Given the description of an element on the screen output the (x, y) to click on. 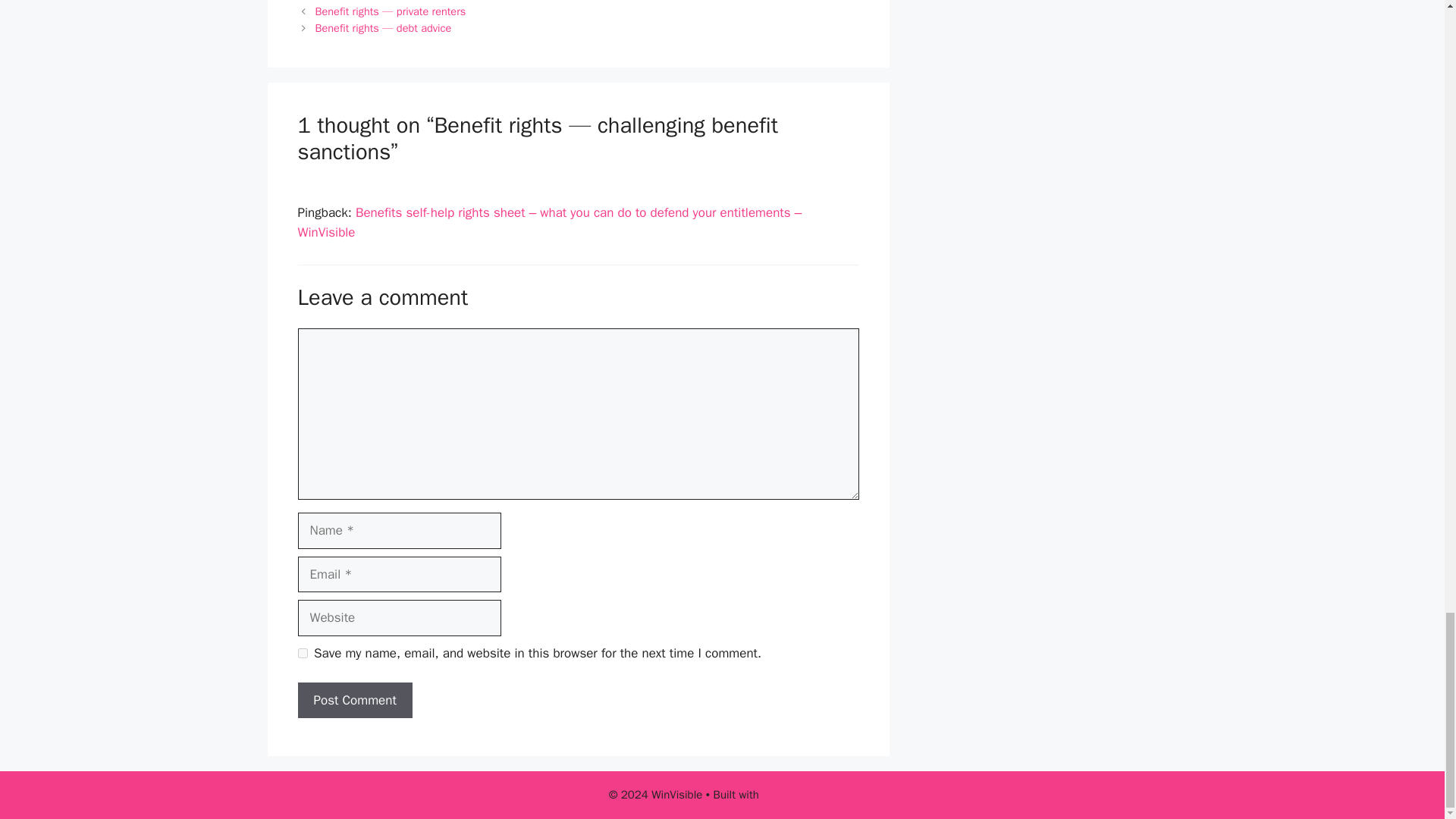
Post Comment (354, 700)
Post Comment (354, 700)
Benefit sanctions (356, 1)
GeneratePress (798, 794)
yes (302, 653)
